Given the description of an element on the screen output the (x, y) to click on. 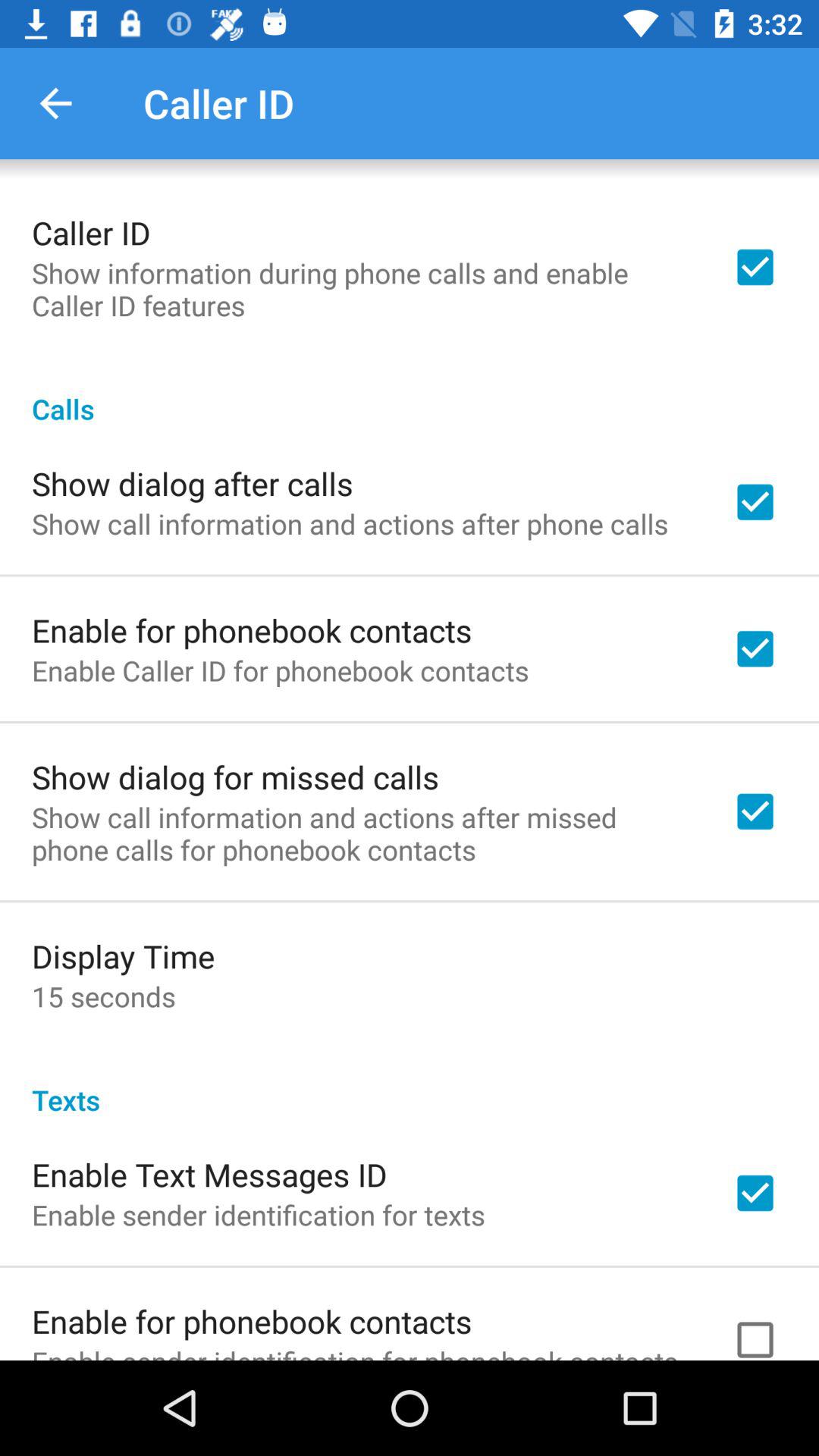
jump until the display time (122, 955)
